Given the description of an element on the screen output the (x, y) to click on. 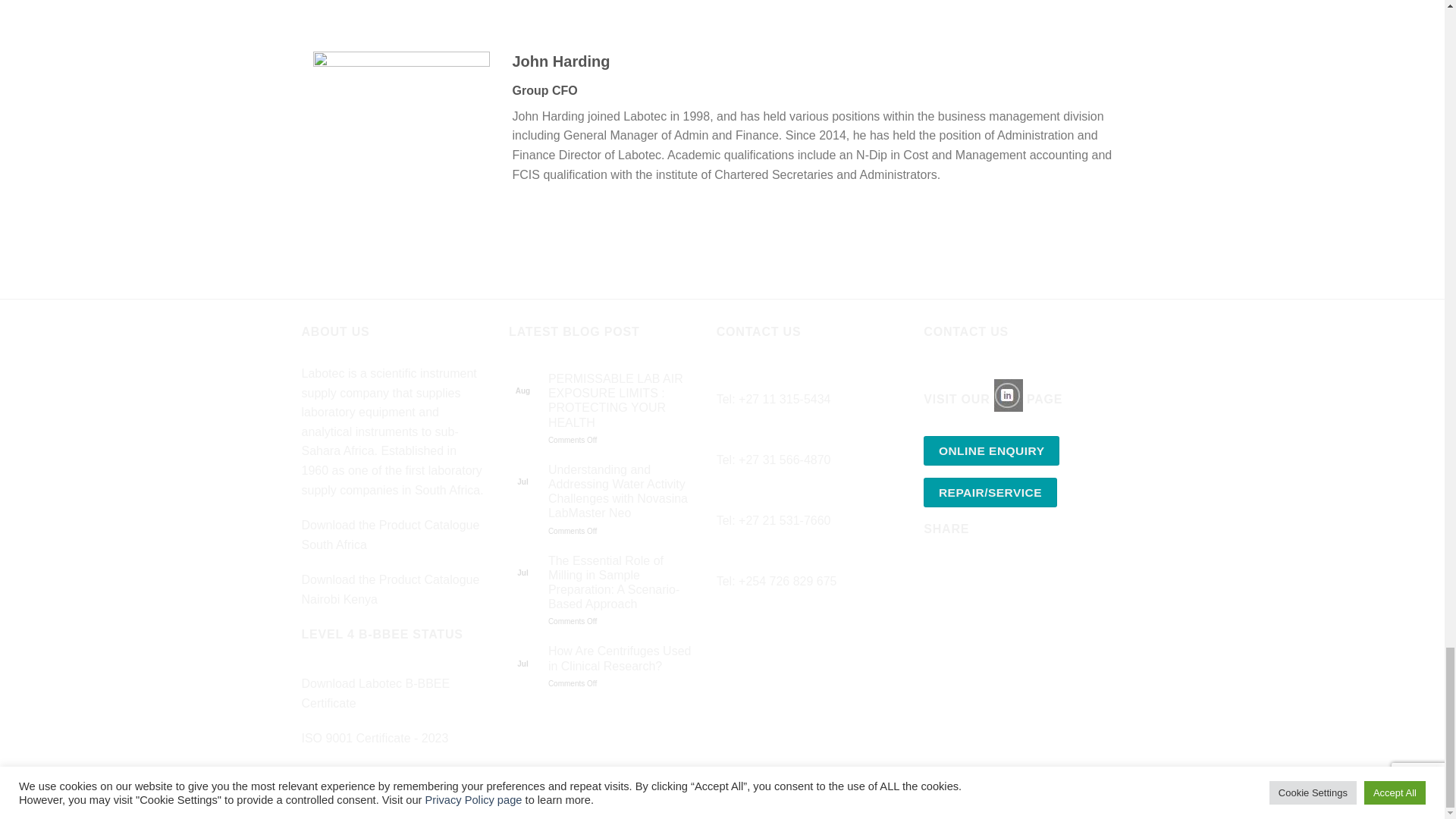
Share on Facebook (937, 573)
Share on Twitter (964, 573)
PERMISSABLE LAB AIR EXPOSURE LIMITS : PROTECTING YOUR HEALTH (621, 400)
Share on LinkedIn (1019, 573)
How Are Centrifuges Used in Clinical Research? (621, 657)
Email to a Friend (991, 573)
